Given the description of an element on the screen output the (x, y) to click on. 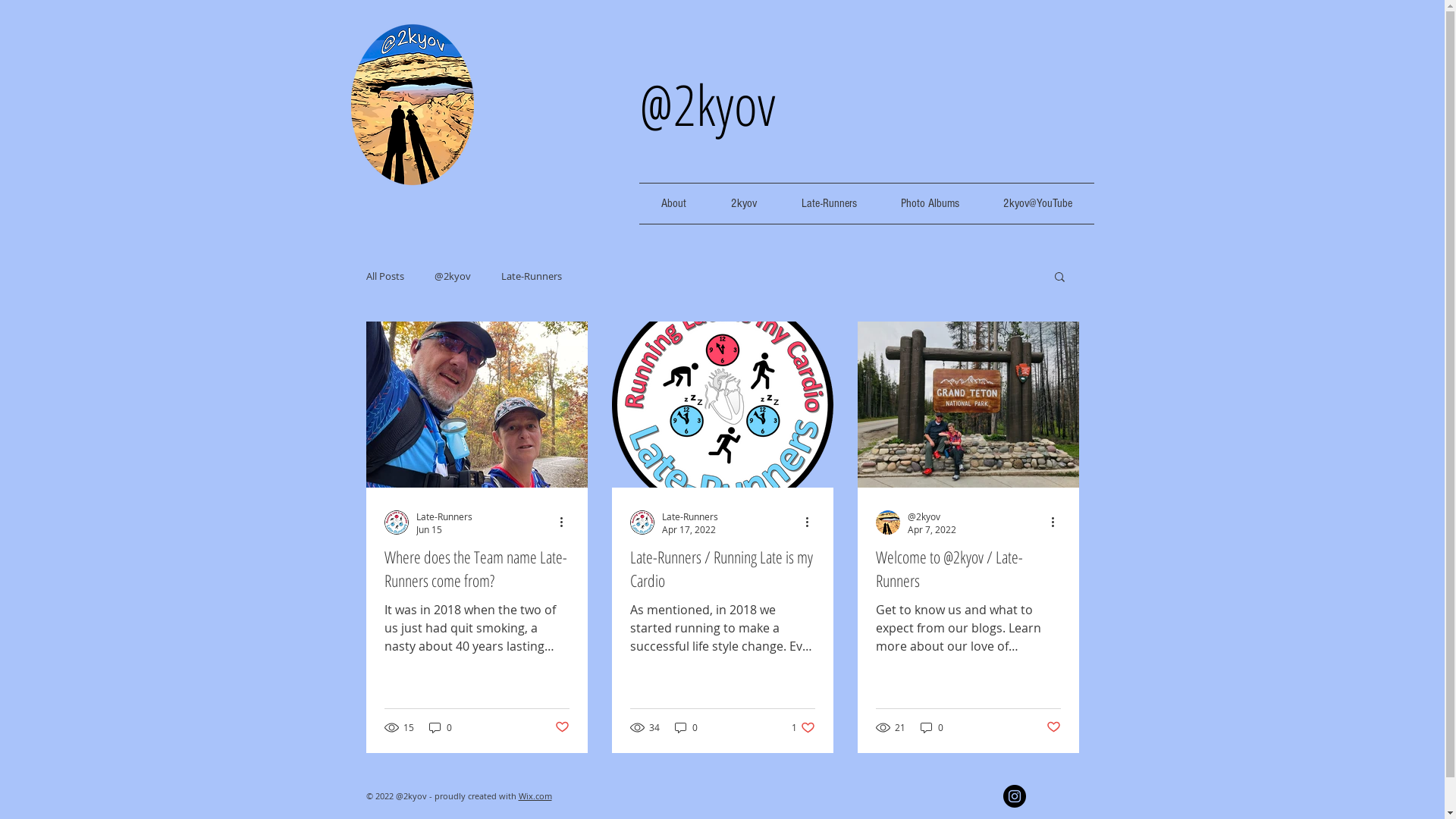
@2kyov Element type: text (451, 275)
2kyov Element type: text (743, 203)
0 Element type: text (440, 727)
@2kyov Element type: text (930, 515)
@2kyov Element type: text (706, 103)
1 like. Post not marked as liked
1 Element type: text (803, 727)
0 Element type: text (931, 727)
Post not marked as liked Element type: text (1053, 726)
2kyov@YouTube Element type: text (1037, 203)
0 Element type: text (686, 727)
Wix.com Element type: text (535, 795)
All Posts Element type: text (384, 275)
Where does the Team name Late-Runners come from? Element type: text (475, 568)
Photo Albums Element type: text (929, 203)
Late-Runners Element type: text (530, 275)
Welcome to @2kyov / Late-Runners Element type: text (967, 568)
About Element type: text (673, 203)
Late-Runners Element type: text (689, 515)
Late-Runners Element type: text (443, 515)
Late-Runners Element type: text (828, 203)
Post not marked as liked Element type: text (562, 726)
Late-Runners / Running Late is my Cardio Element type: text (721, 568)
